Given the description of an element on the screen output the (x, y) to click on. 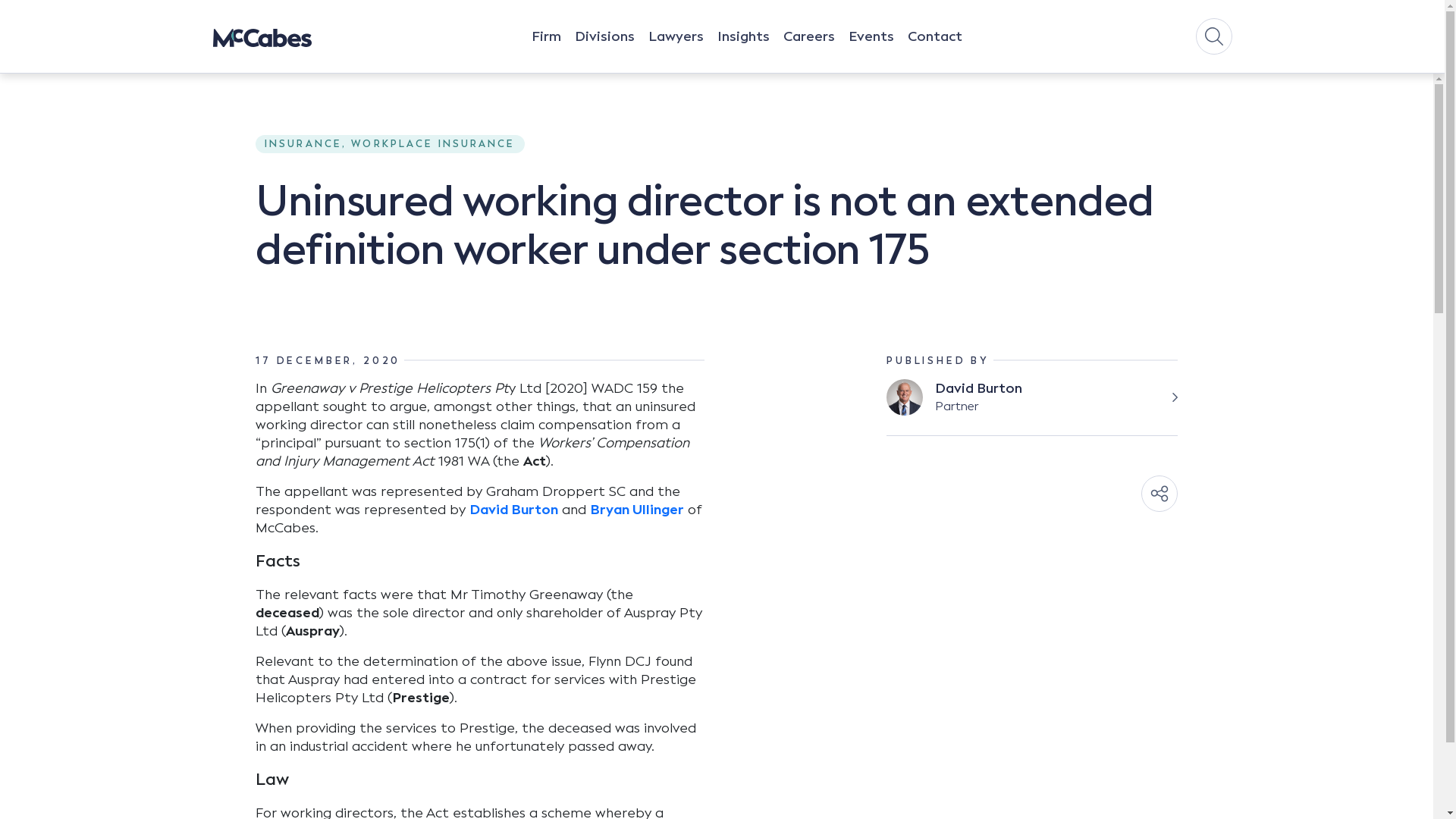
Lawyers Element type: text (675, 50)
Firm Element type: text (546, 50)
Events Element type: text (871, 50)
Insights Element type: text (743, 50)
Divisions Element type: text (604, 50)
Contact Element type: text (934, 50)
David Burton
Partner Element type: text (1031, 407)
Bryan Ullinger Element type: text (636, 509)
David Burton Element type: text (513, 509)
INSURANCE, WORKPLACE INSURANCE Element type: text (389, 142)
Careers Element type: text (808, 50)
